Given the description of an element on the screen output the (x, y) to click on. 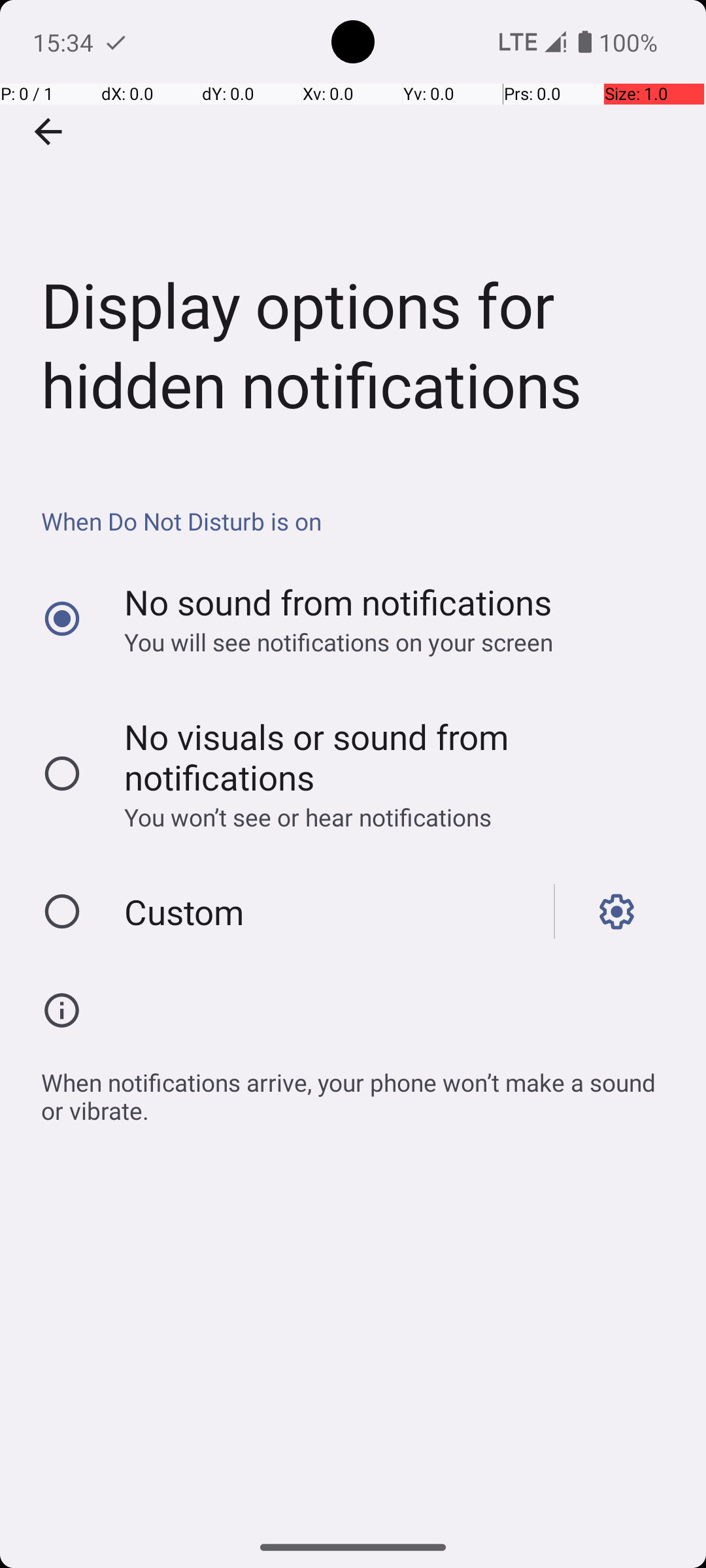
Display options for hidden notifications Element type: android.widget.FrameLayout (353, 231)
When Do Not Disturb is on Element type: android.widget.TextView (359, 520)
No sound from notifications Element type: android.widget.TextView (338, 601)
You will see notifications on your screen Element type: android.widget.TextView (387, 641)
No visuals or sound from notifications Element type: android.widget.TextView (387, 756)
You won’t see or hear notifications Element type: android.widget.TextView (387, 816)
When notifications arrive, your phone won’t make a sound or vibrate. Element type: android.widget.TextView (359, 1089)
